Given the description of an element on the screen output the (x, y) to click on. 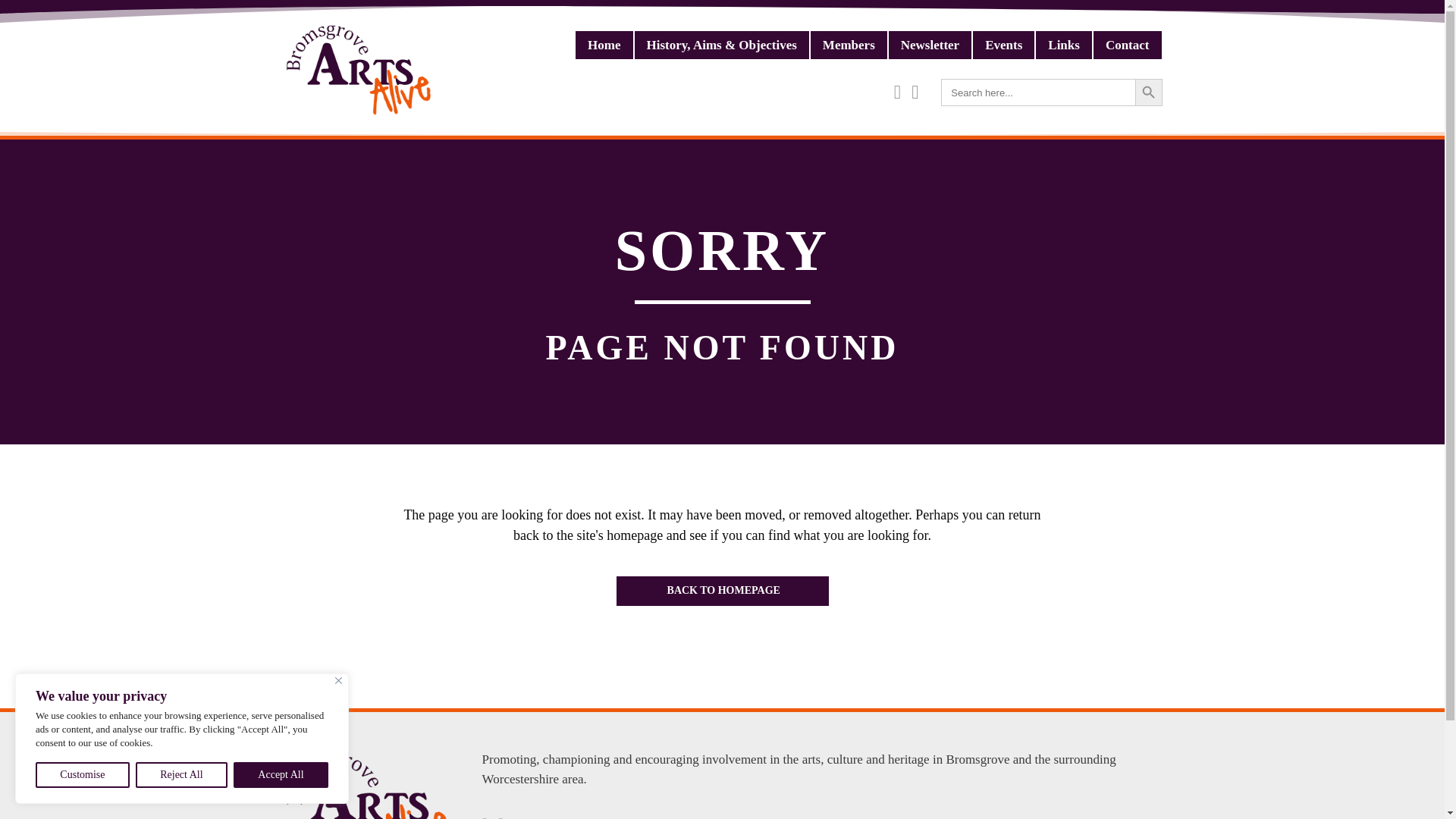
Home (603, 44)
Members (848, 44)
Newsletter (929, 44)
Accept All (280, 774)
bromsgrove-Arts-Alive-logo-cropped (366, 784)
Links (1063, 44)
Contact (1127, 44)
bromsgrove-Arts-Alive-logo-cropped (357, 69)
Reject All (181, 774)
Customise (81, 774)
Events (1002, 44)
